Given the description of an element on the screen output the (x, y) to click on. 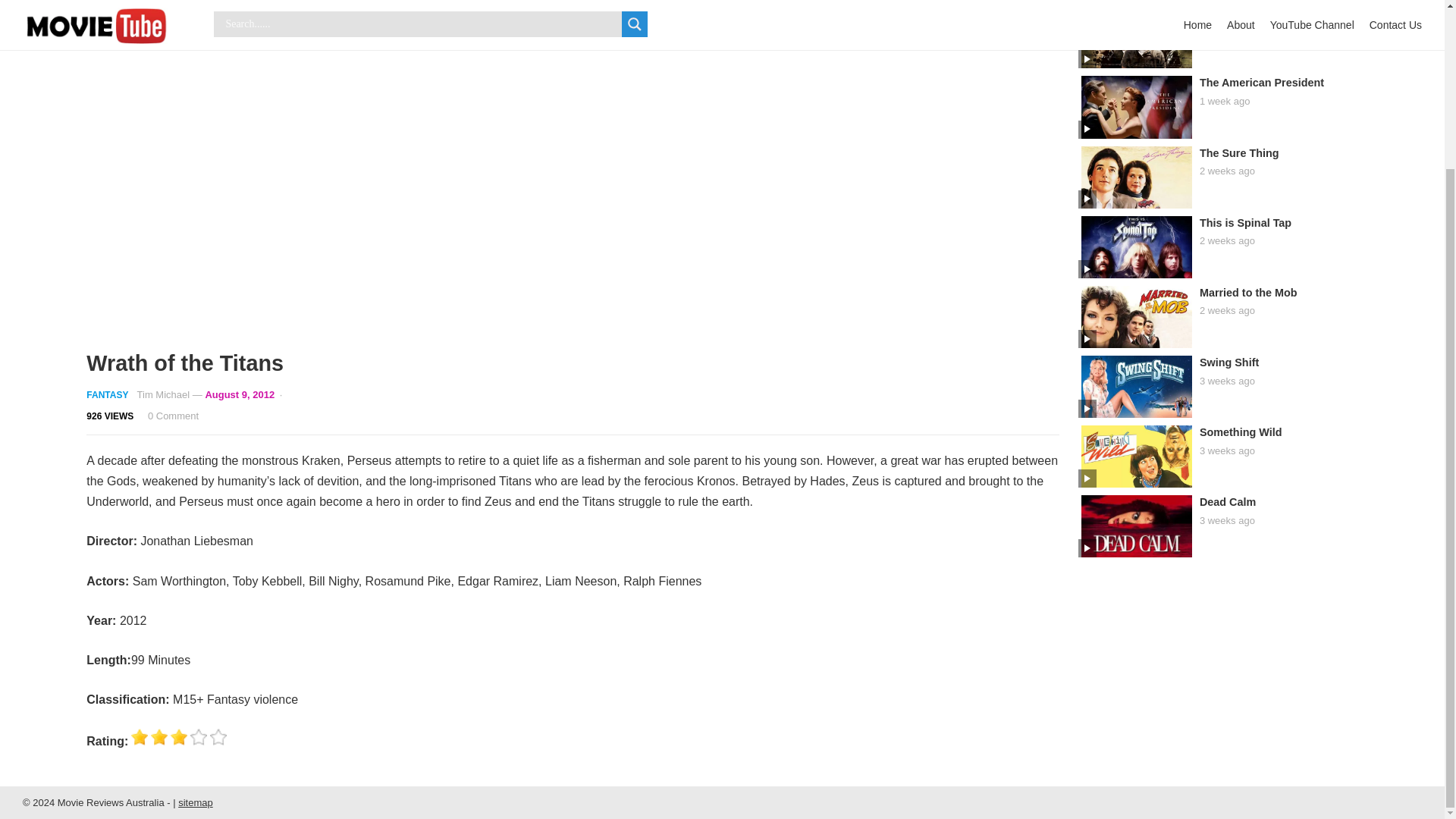
Tim Michael (163, 394)
0 Comment (173, 415)
Tigerland (1224, 12)
Posts by Tim Michael (163, 394)
FANTASY (106, 394)
The American President (1261, 82)
The Sure Thing (1239, 152)
